Given the description of an element on the screen output the (x, y) to click on. 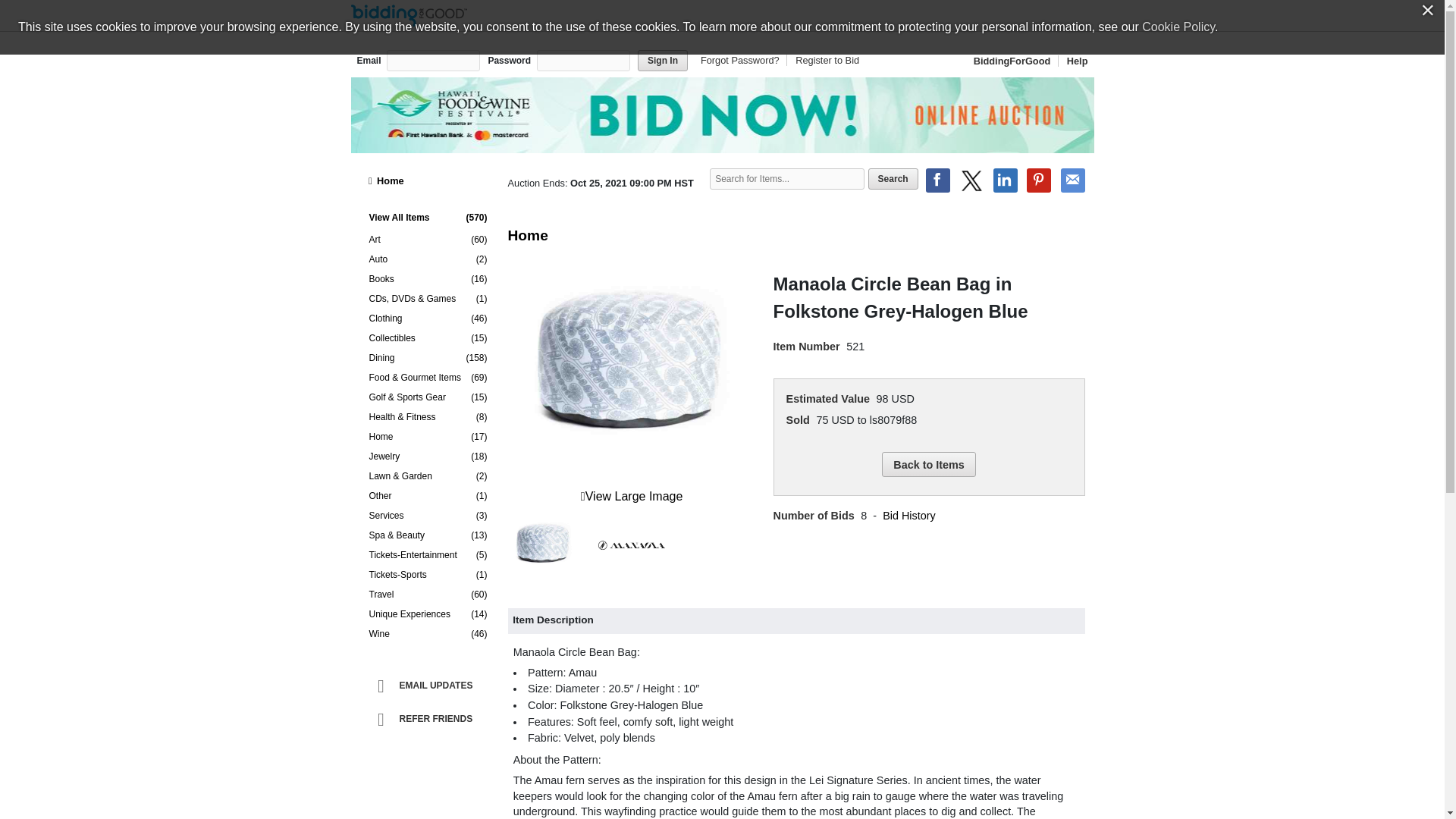
Forgot Password? (741, 60)
Back to Items (928, 463)
Sign In (662, 60)
Home (427, 180)
Help (1074, 60)
Pinterest (1038, 180)
EMAIL UPDATES (431, 686)
Register to Bid (824, 60)
Search (892, 178)
Sign In (662, 60)
REFER FRIENDS (431, 719)
View Large Image (631, 495)
LinkedIn (1004, 180)
Twitter (971, 180)
